Given the description of an element on the screen output the (x, y) to click on. 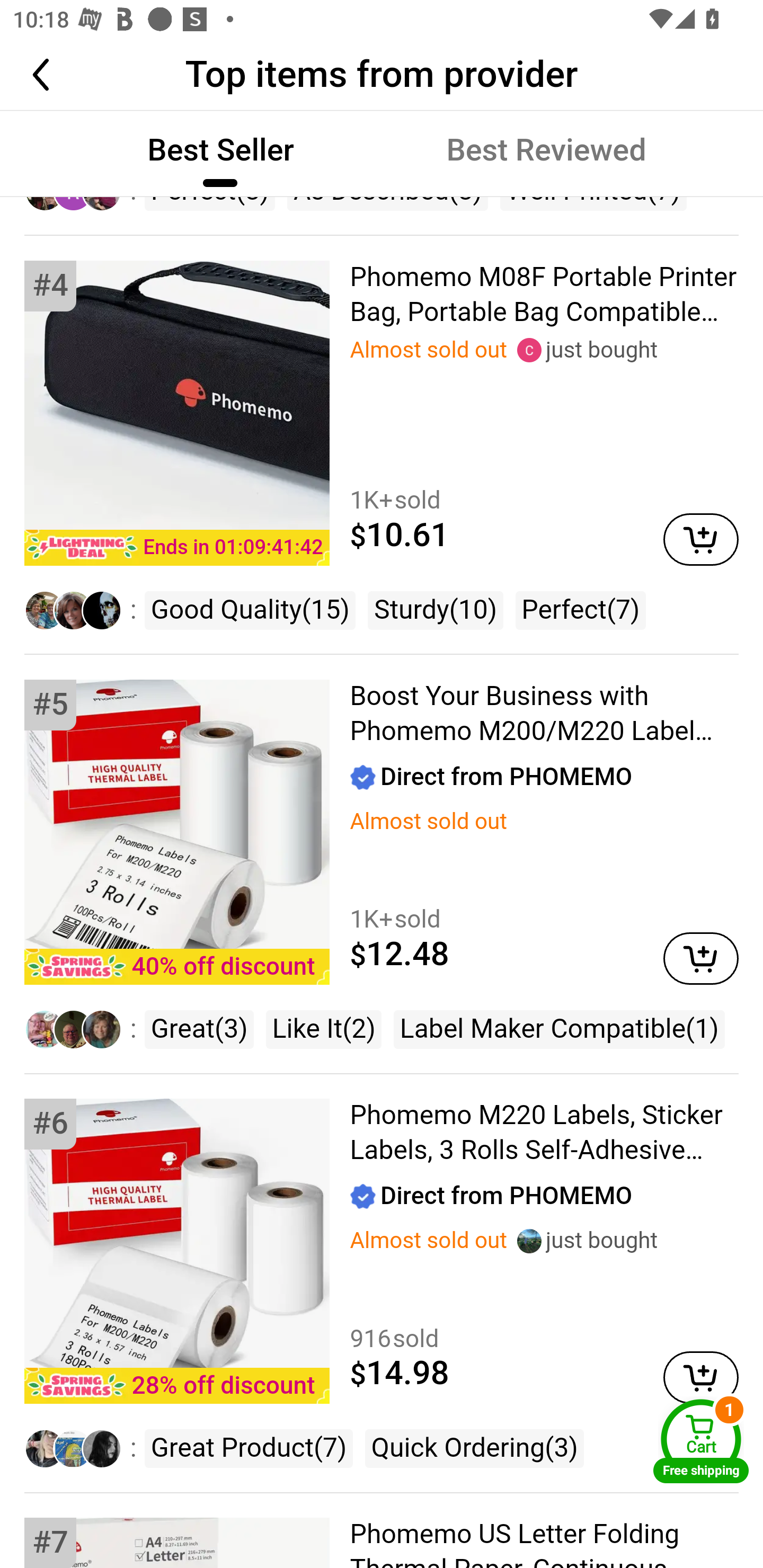
Best Seller (220, 150)
Best Reviewed (546, 150)
Cart Free shipping Cart (701, 1440)
